Given the description of an element on the screen output the (x, y) to click on. 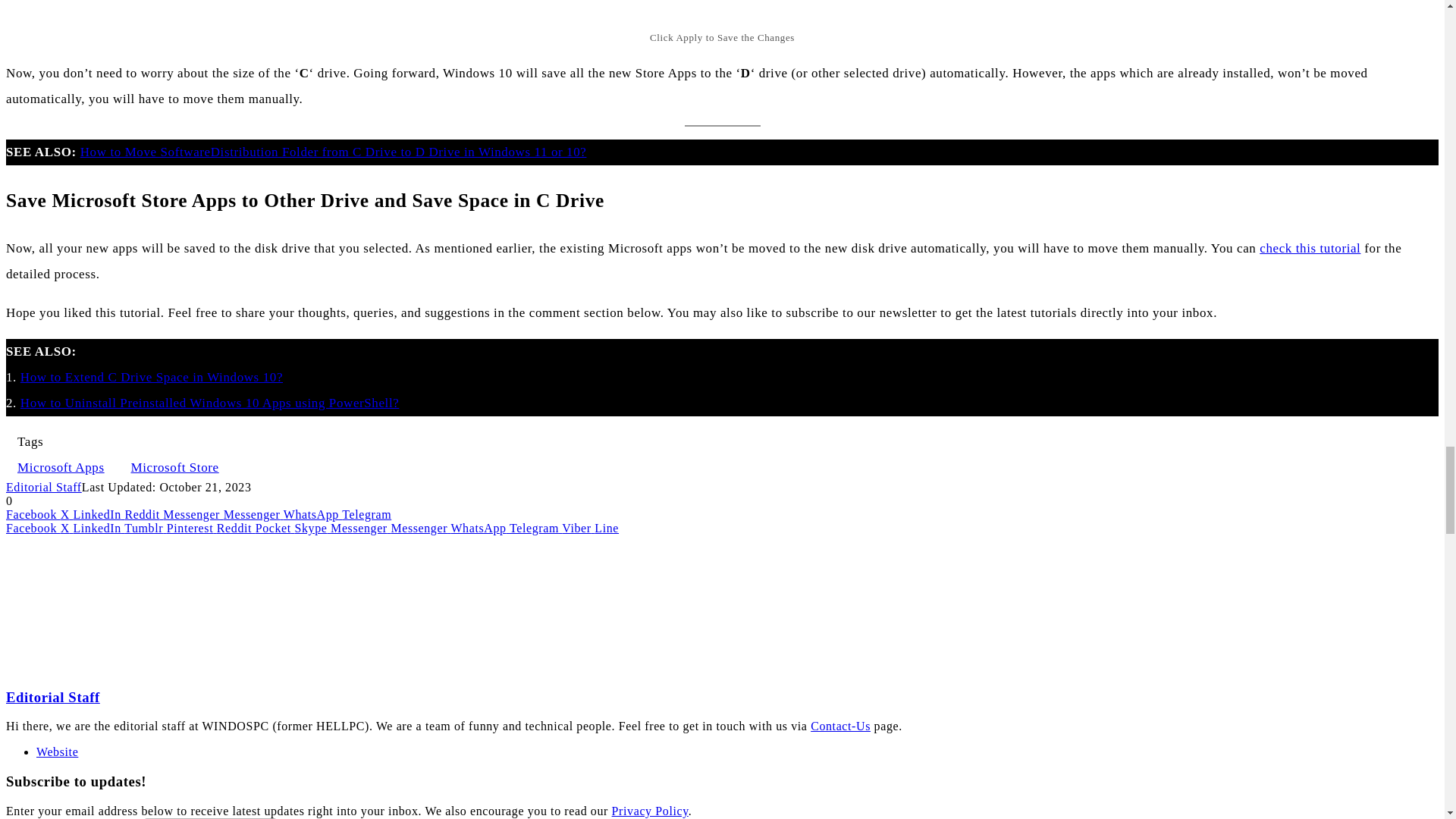
X (67, 513)
Facebook (33, 513)
LinkedIn (97, 513)
Messenger (192, 513)
Messenger (253, 513)
Editorial Staff (43, 486)
Reddit (143, 513)
